Given the description of an element on the screen output the (x, y) to click on. 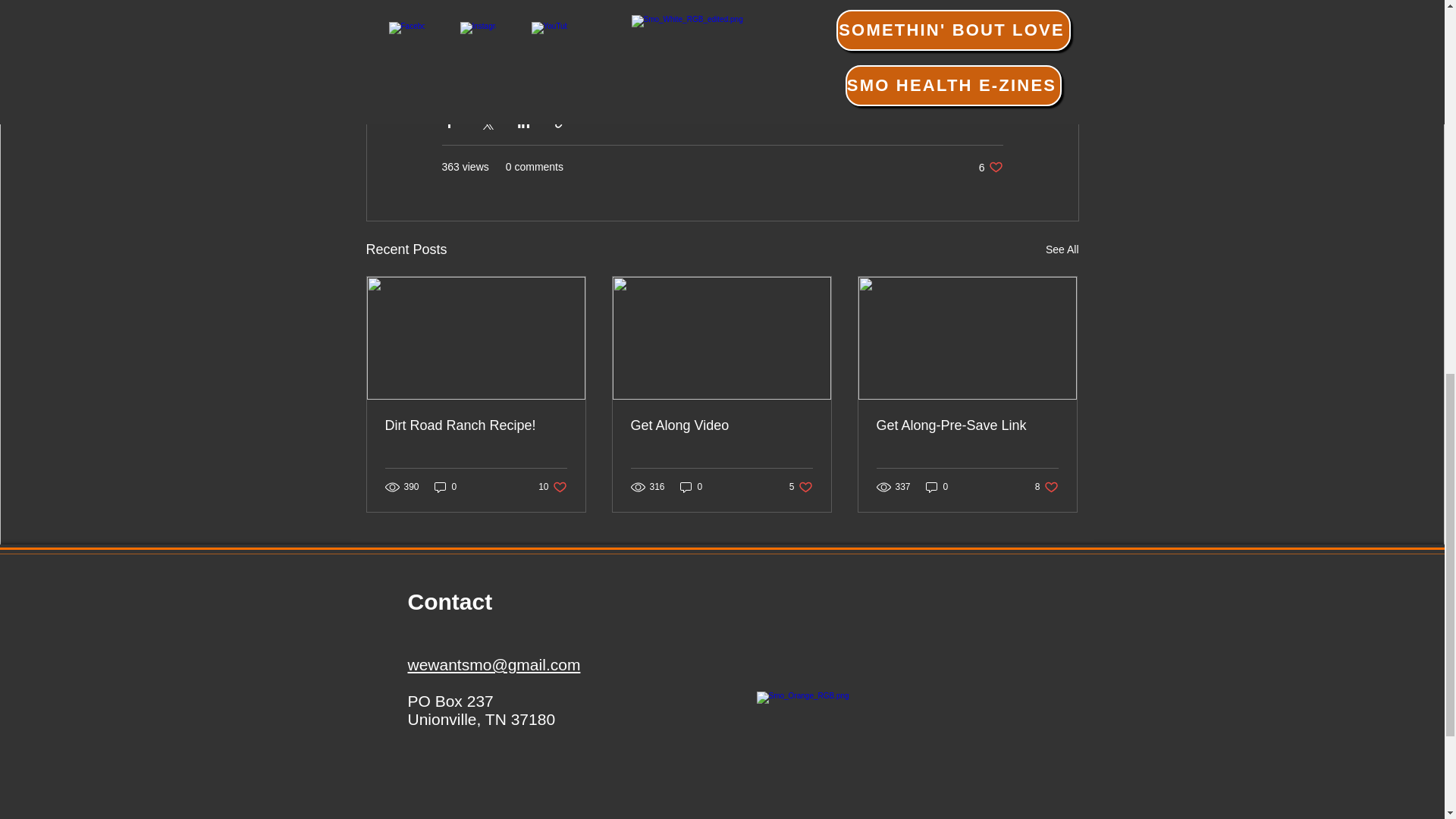
0 (937, 486)
Get Along Video (721, 425)
Dirt Road Ranch Recipe! (476, 425)
0 (691, 486)
See All (1061, 250)
Get Along-Pre-Save Link (552, 486)
0 (1046, 486)
